Given the description of an element on the screen output the (x, y) to click on. 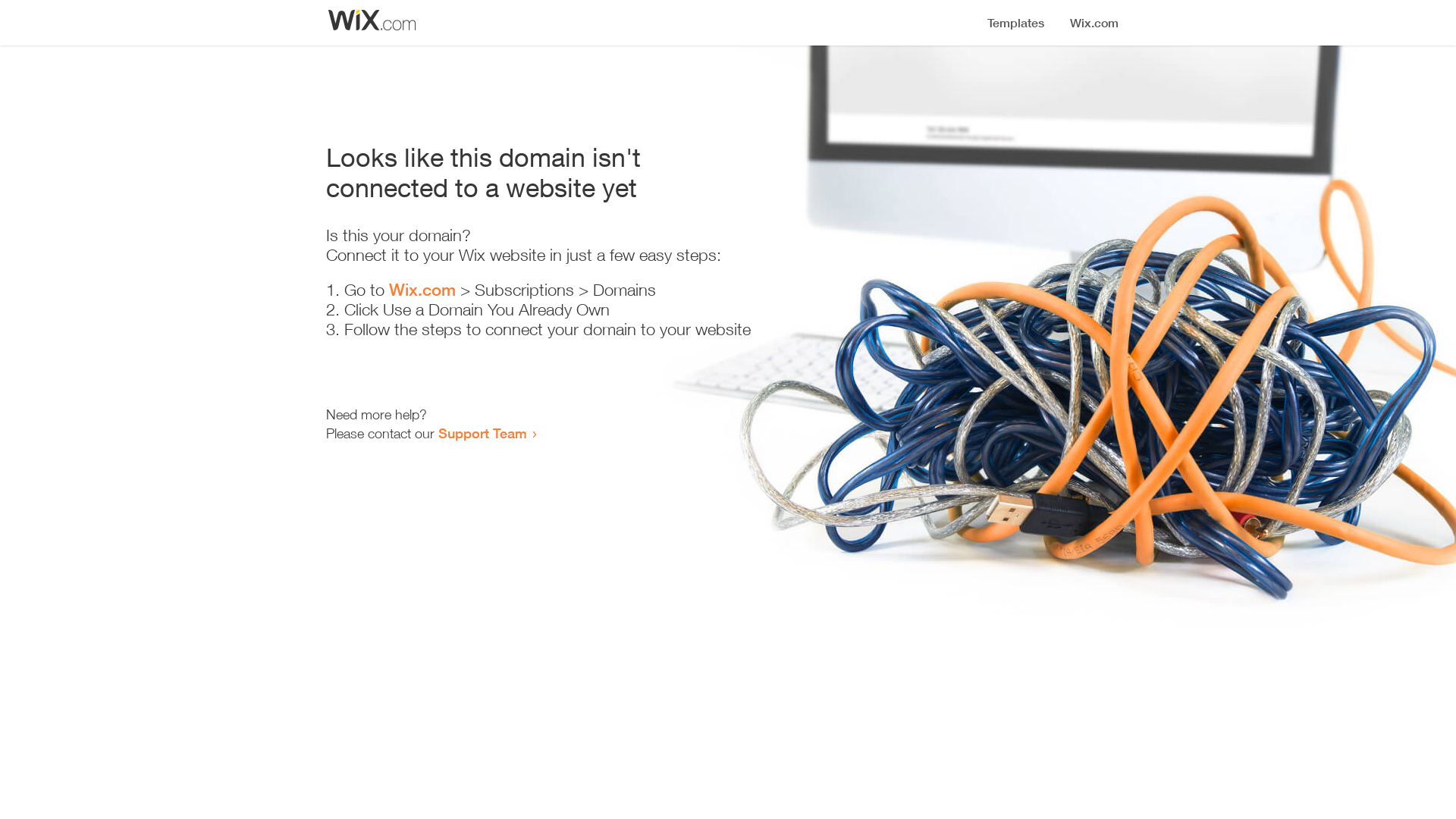
Wix.com Element type: text (422, 289)
Support Team Element type: text (482, 432)
